Given the description of an element on the screen output the (x, y) to click on. 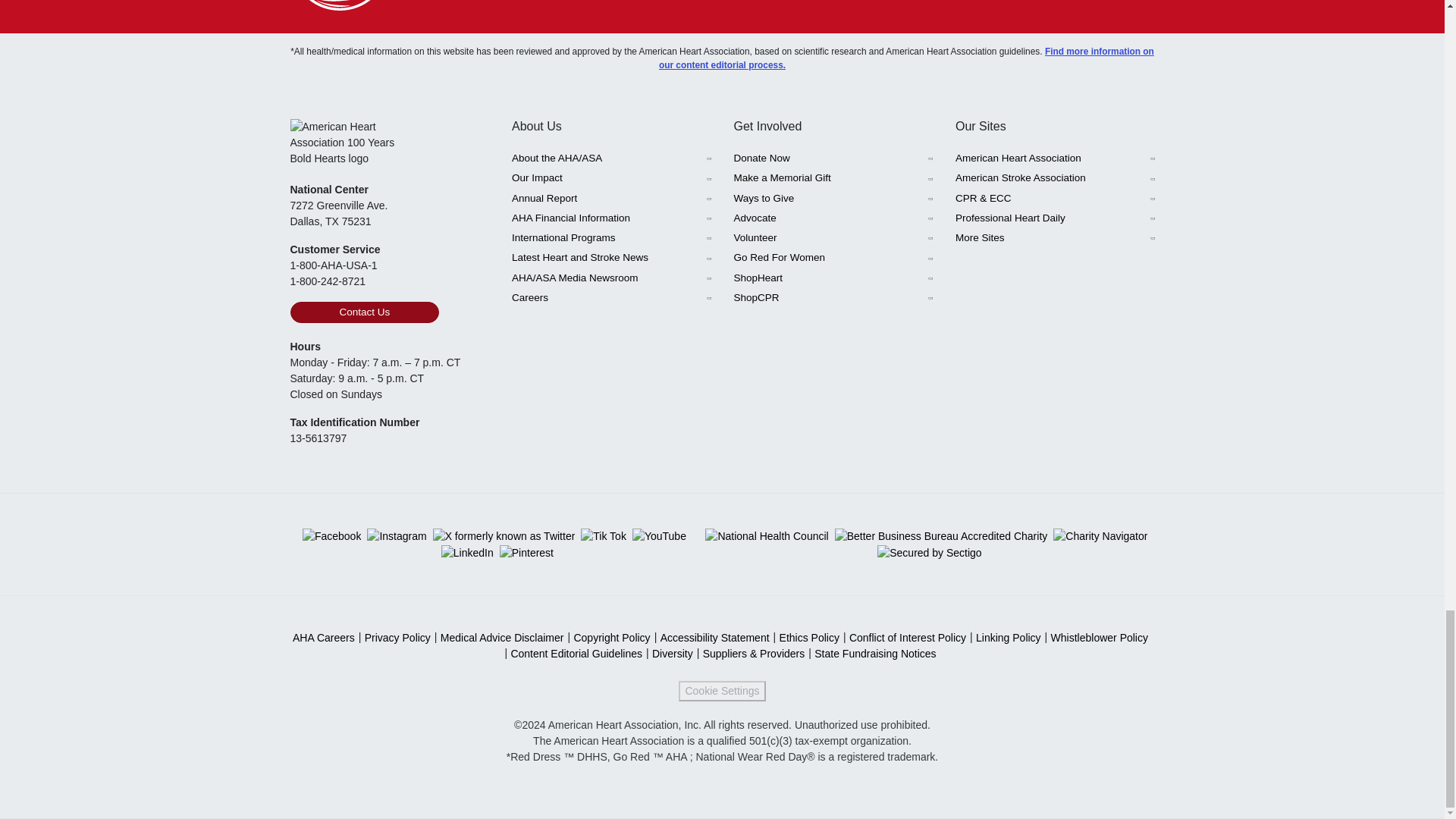
Ways to Give (833, 198)
International Programs (611, 238)
Latest Heart and Stroke News (611, 257)
Make a Memorial Gift (833, 178)
Volunteer (833, 238)
Careers (611, 297)
Annual Report (611, 198)
AHA Financial Information (611, 218)
Donate Now (833, 158)
Advocate (833, 218)
Our Impact (611, 178)
